Given the description of an element on the screen output the (x, y) to click on. 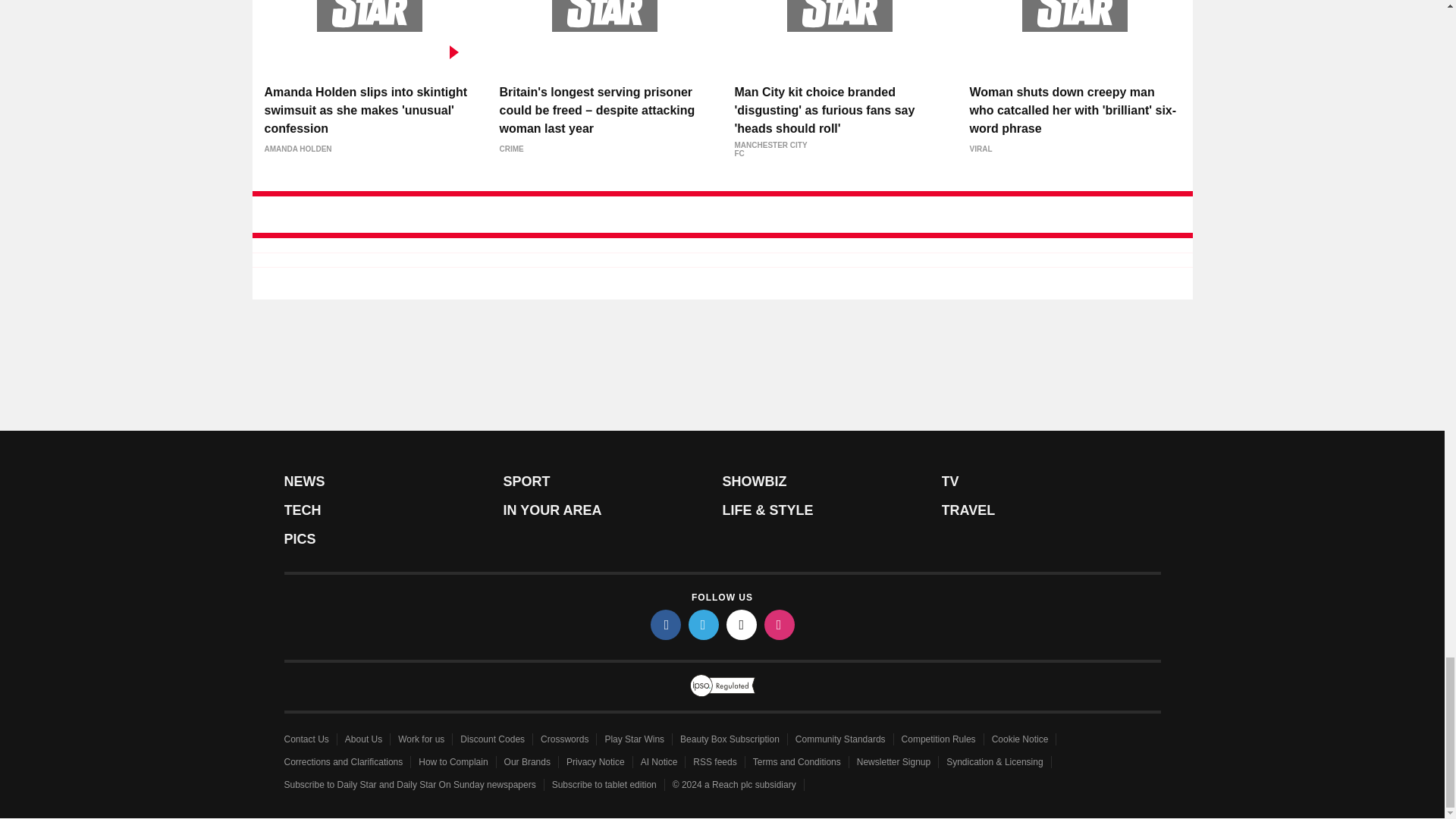
tiktok (741, 624)
instagram (779, 624)
facebook (665, 624)
twitter (703, 624)
